Given the description of an element on the screen output the (x, y) to click on. 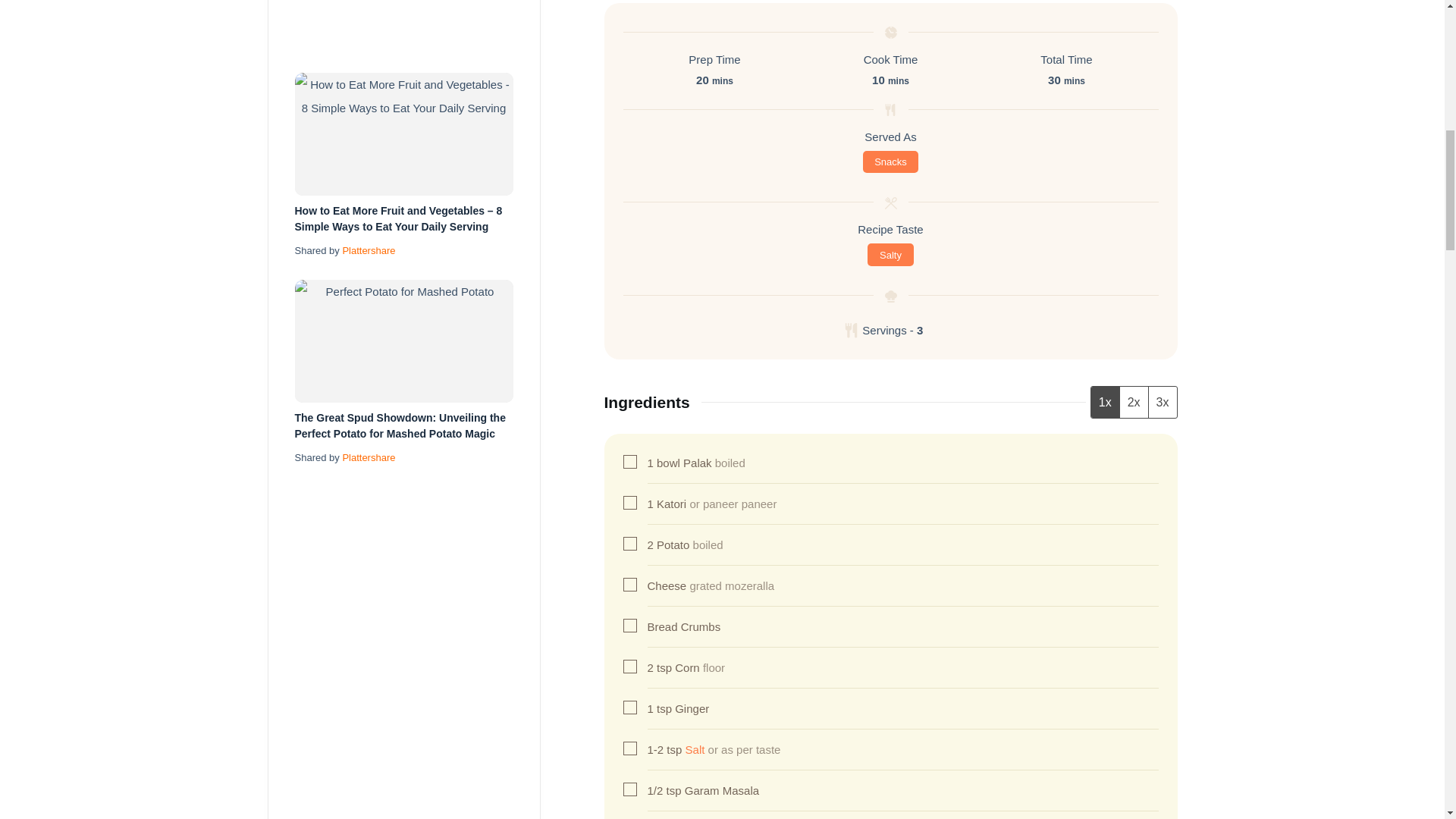
Salt (694, 748)
3x (1162, 402)
2x (1133, 402)
Salty (889, 254)
Snacks (890, 161)
